Given the description of an element on the screen output the (x, y) to click on. 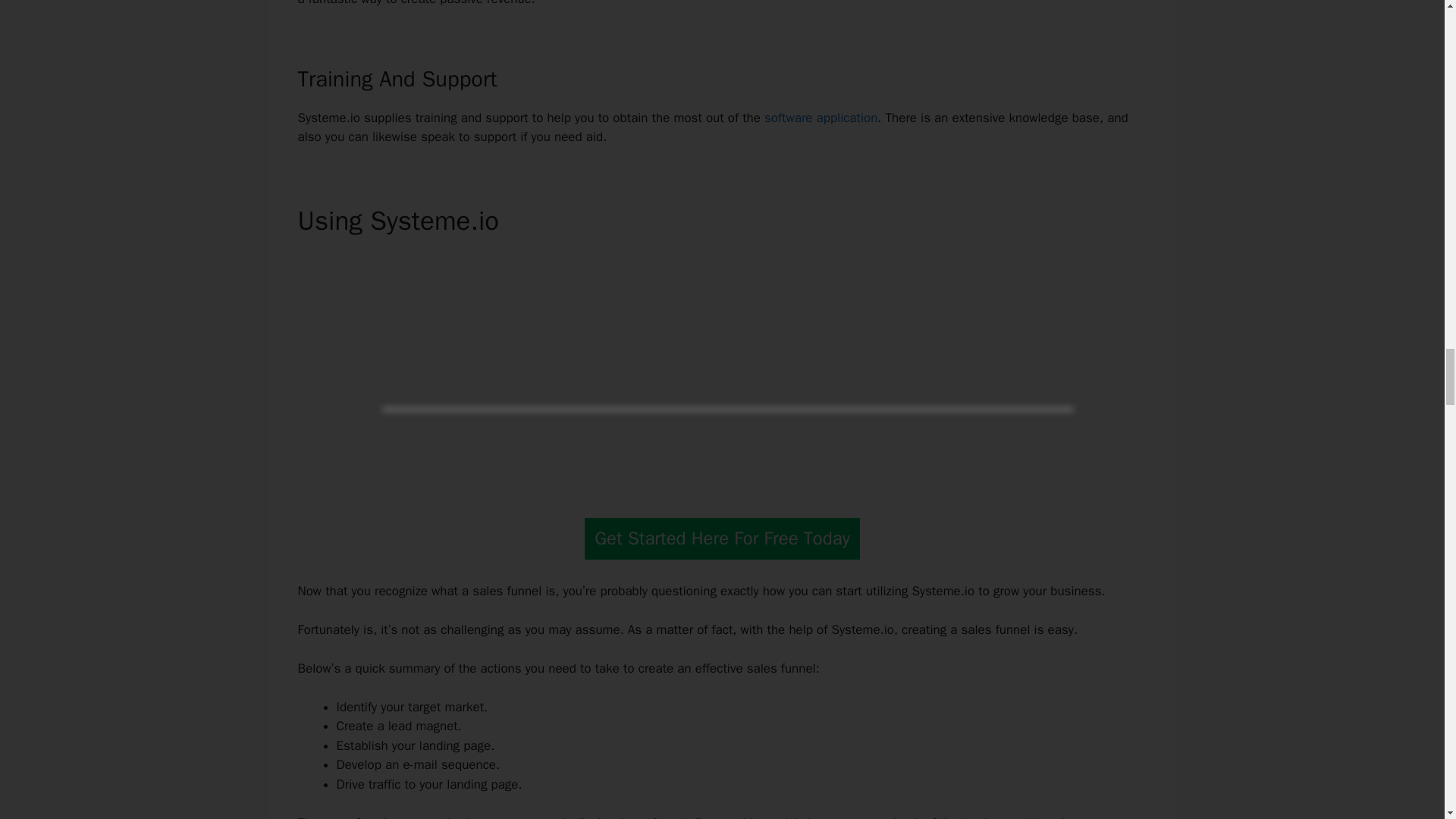
YouTube video player (721, 370)
Get Started Here For Free Today (722, 538)
software application (820, 117)
